Given the description of an element on the screen output the (x, y) to click on. 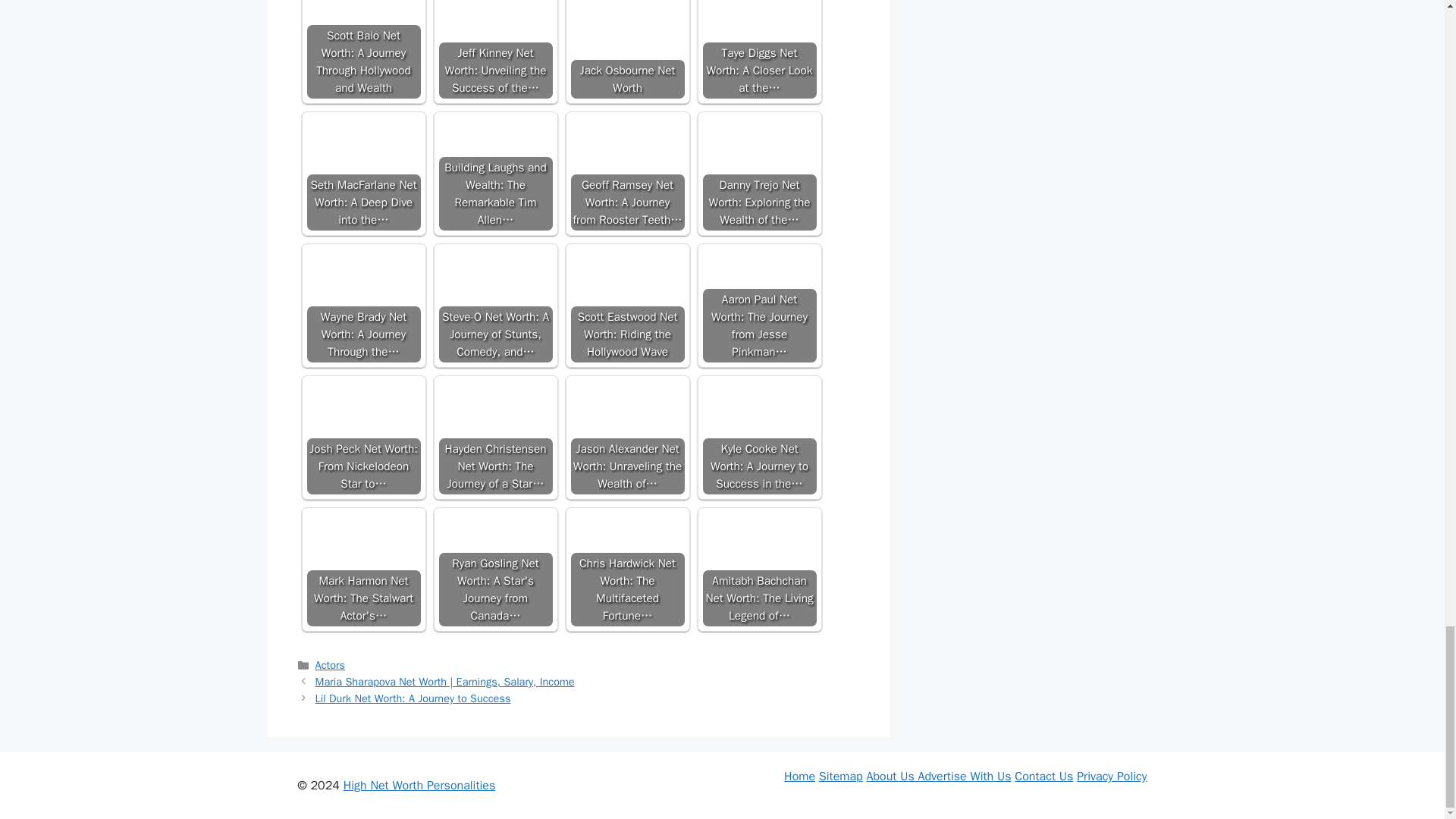
Scott Eastwood Net Worth: Riding the Hollywood Wave (627, 305)
Jack Osbourne Net Worth (627, 35)
Scott Baio Net Worth: A Journey Through Hollywood and Wealth (362, 20)
